Given the description of an element on the screen output the (x, y) to click on. 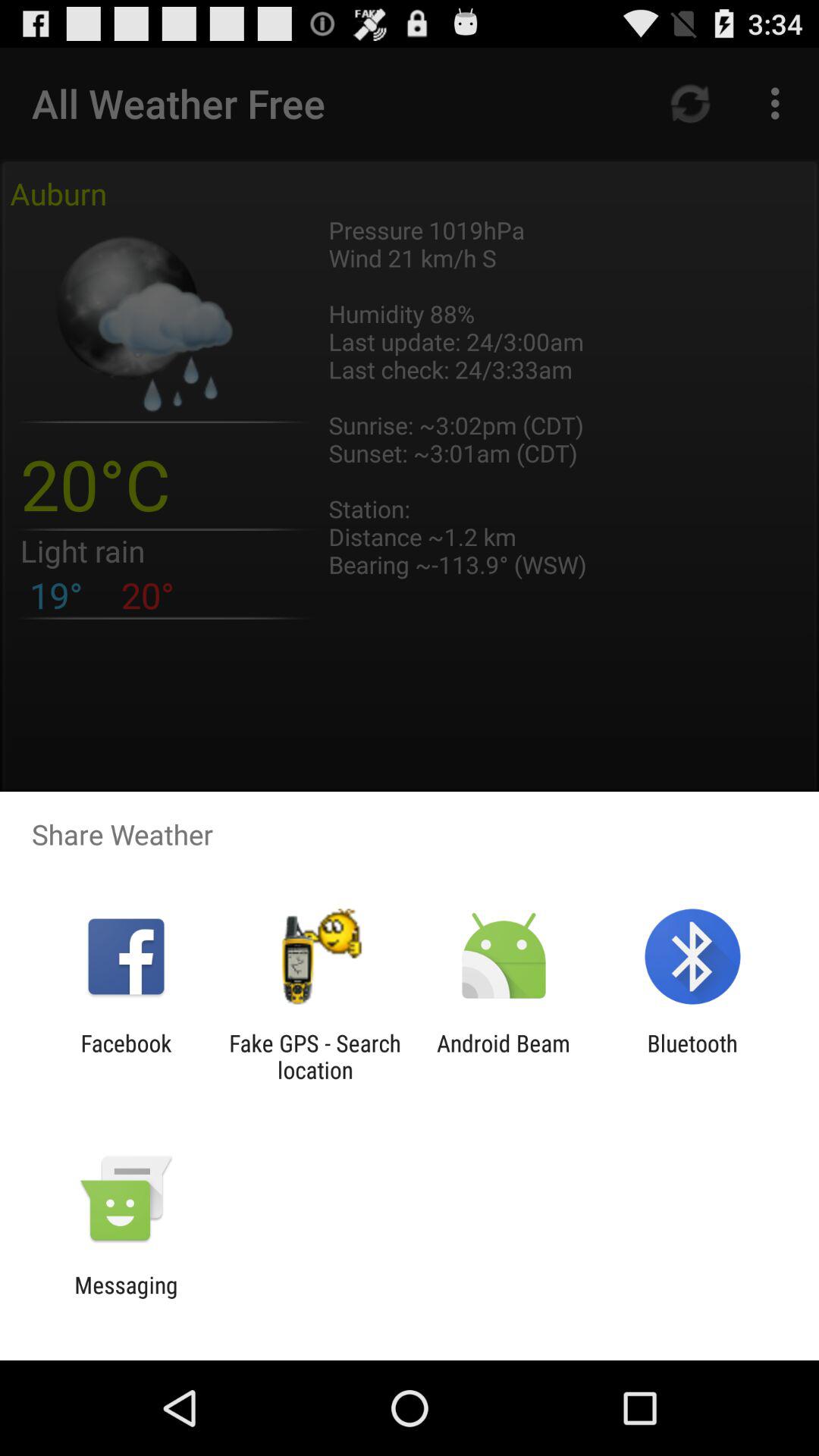
flip to the bluetooth (692, 1056)
